Given the description of an element on the screen output the (x, y) to click on. 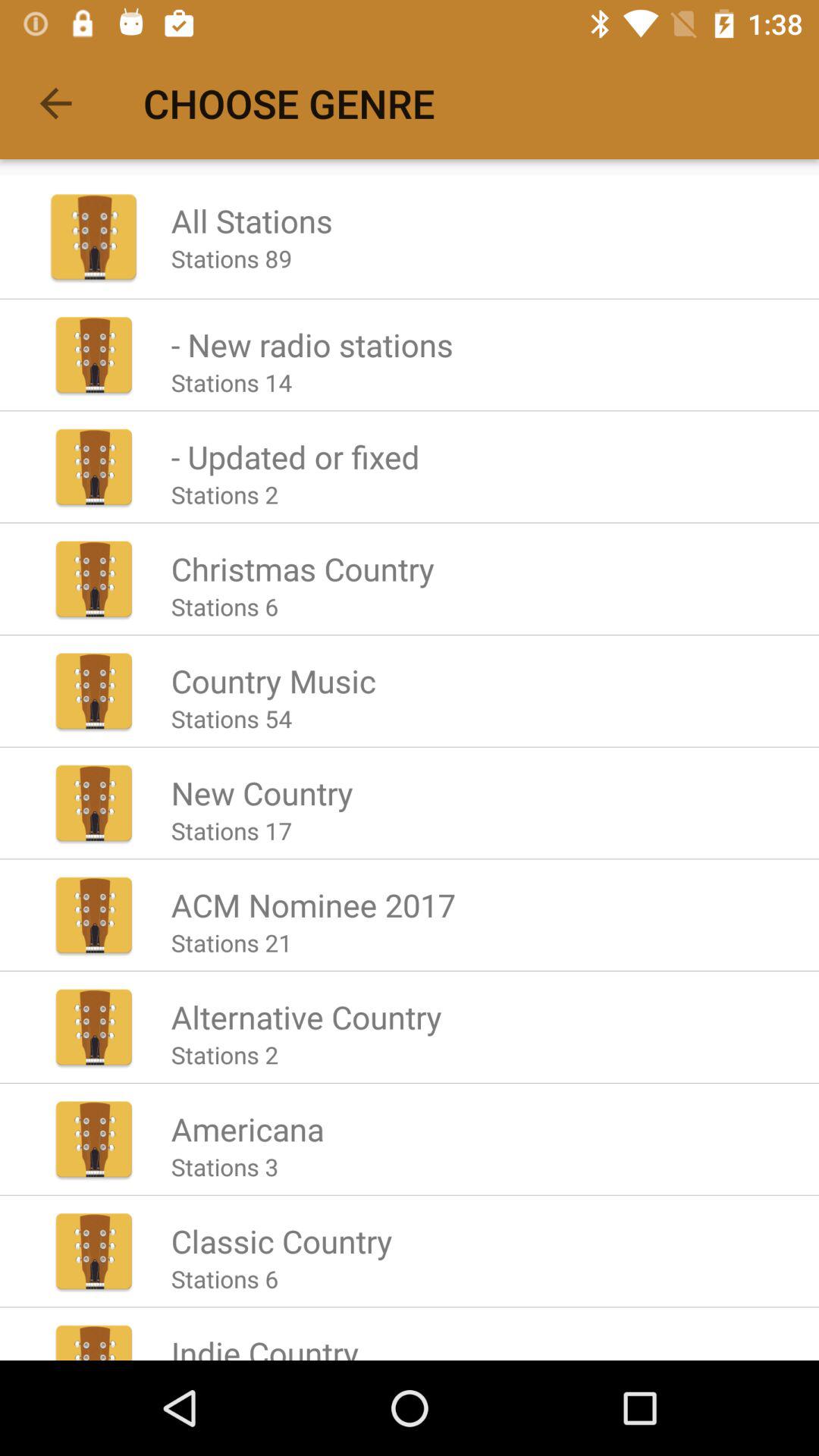
open the stations 89 icon (231, 258)
